Given the description of an element on the screen output the (x, y) to click on. 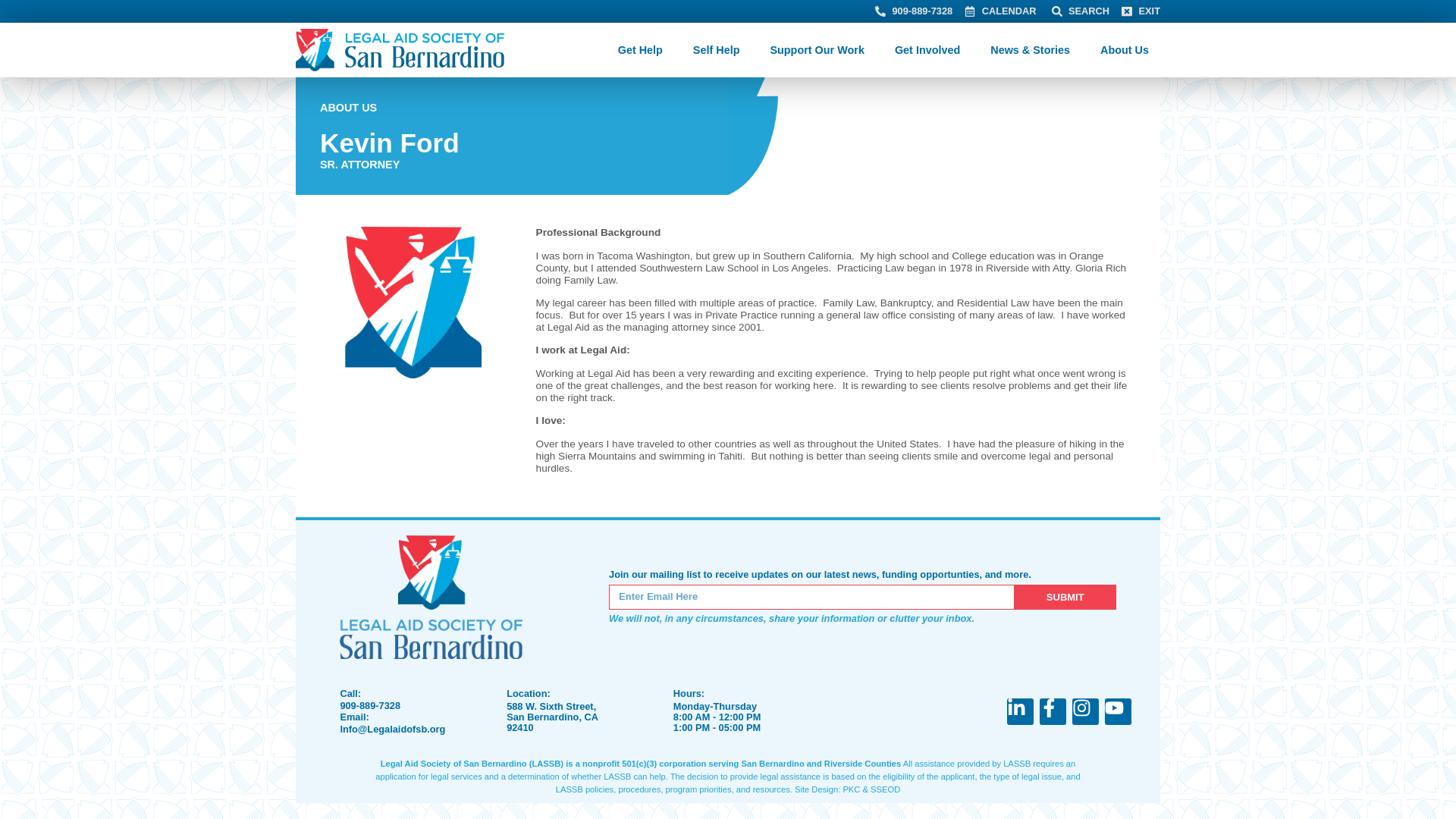
Support Our Work (820, 49)
Self Help (719, 49)
EXIT (1140, 11)
Get Help (644, 49)
SEARCH (1080, 11)
About Us (1128, 49)
Get Involved (931, 49)
909-889-7328 (913, 11)
CALENDAR (999, 11)
